Given the description of an element on the screen output the (x, y) to click on. 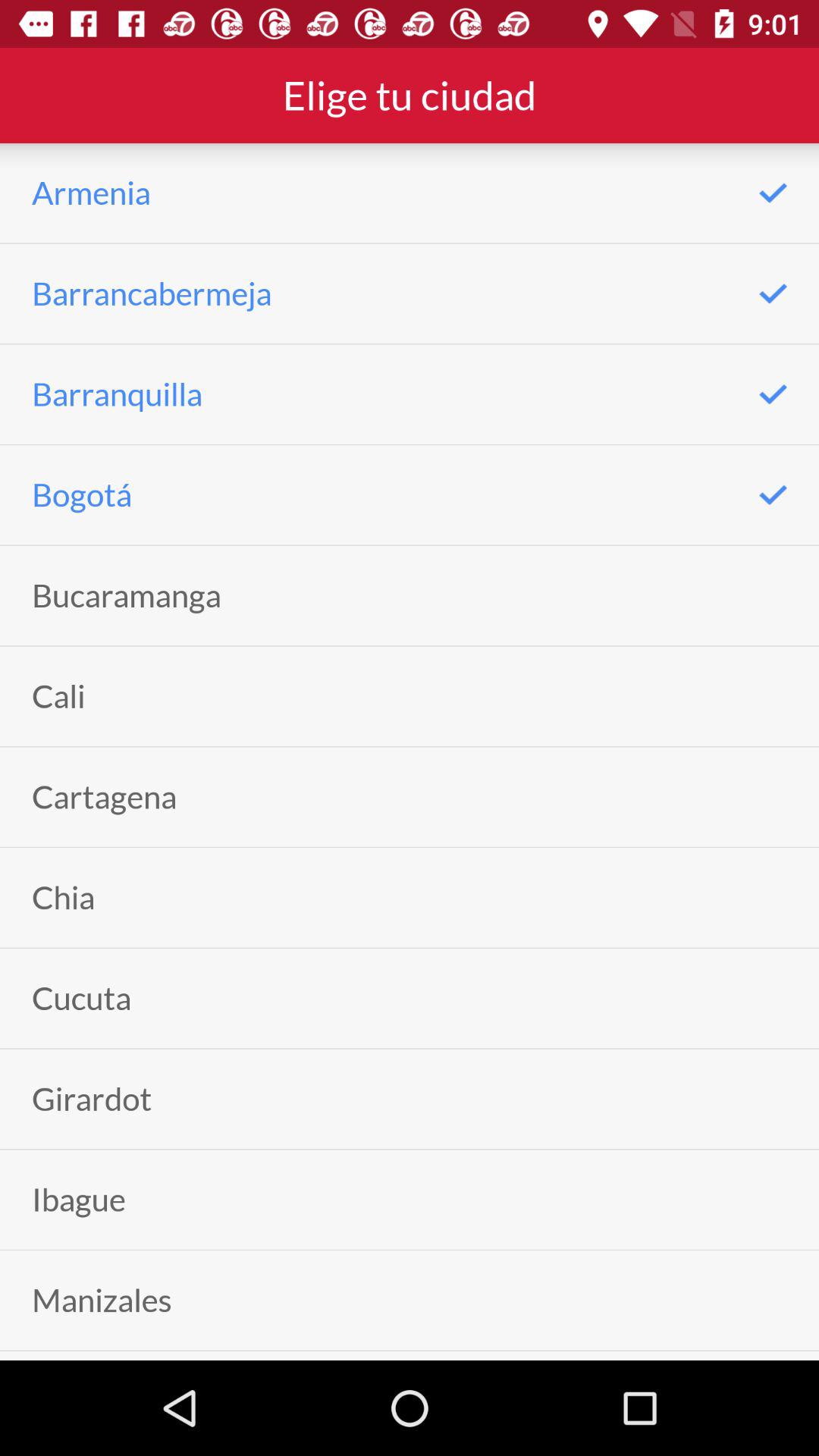
scroll until the cucuta item (81, 998)
